Given the description of an element on the screen output the (x, y) to click on. 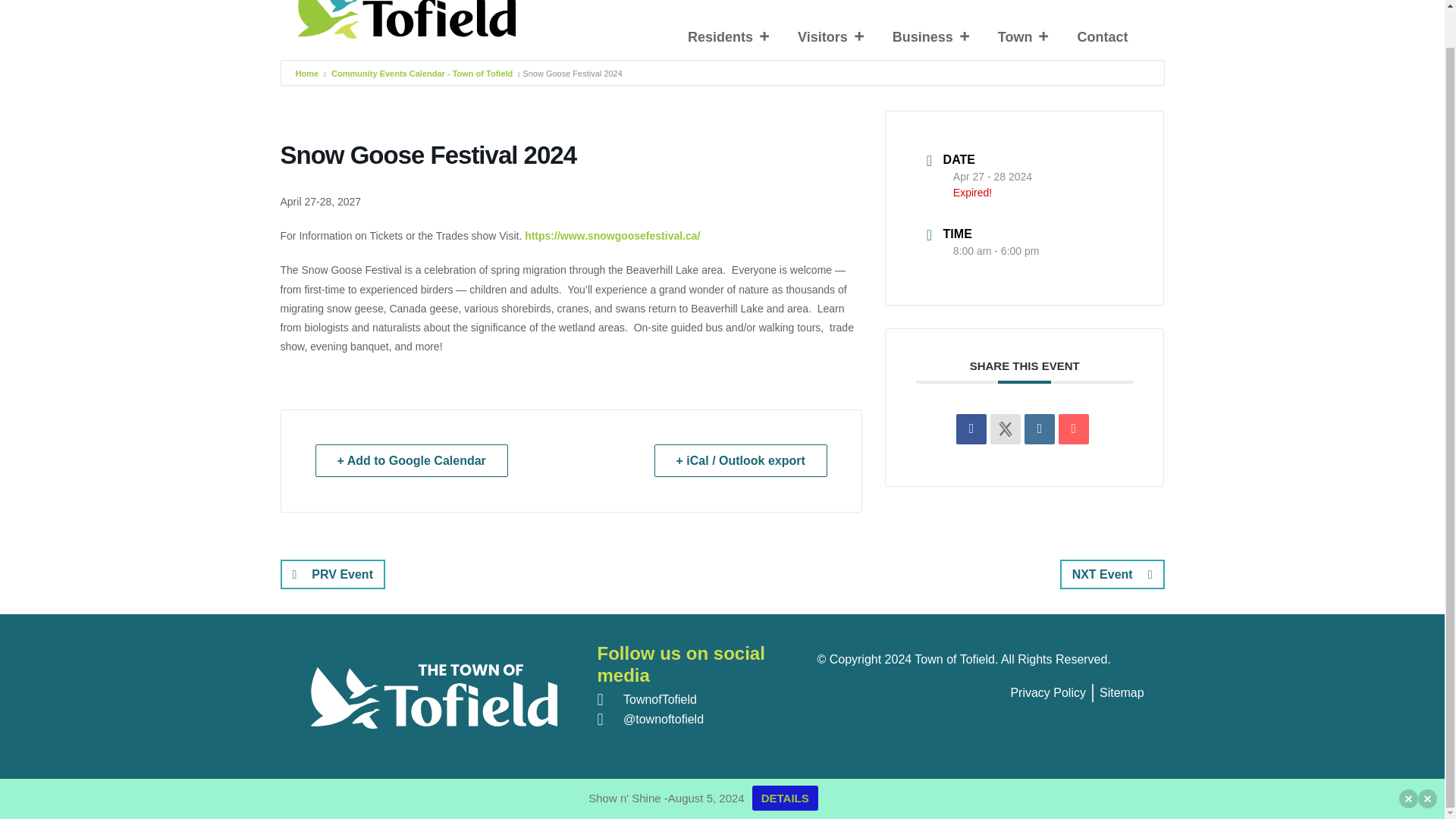
Email (1073, 429)
X Social Network (1005, 429)
Share on Facebook (971, 429)
Linkedin (1039, 429)
